Given the description of an element on the screen output the (x, y) to click on. 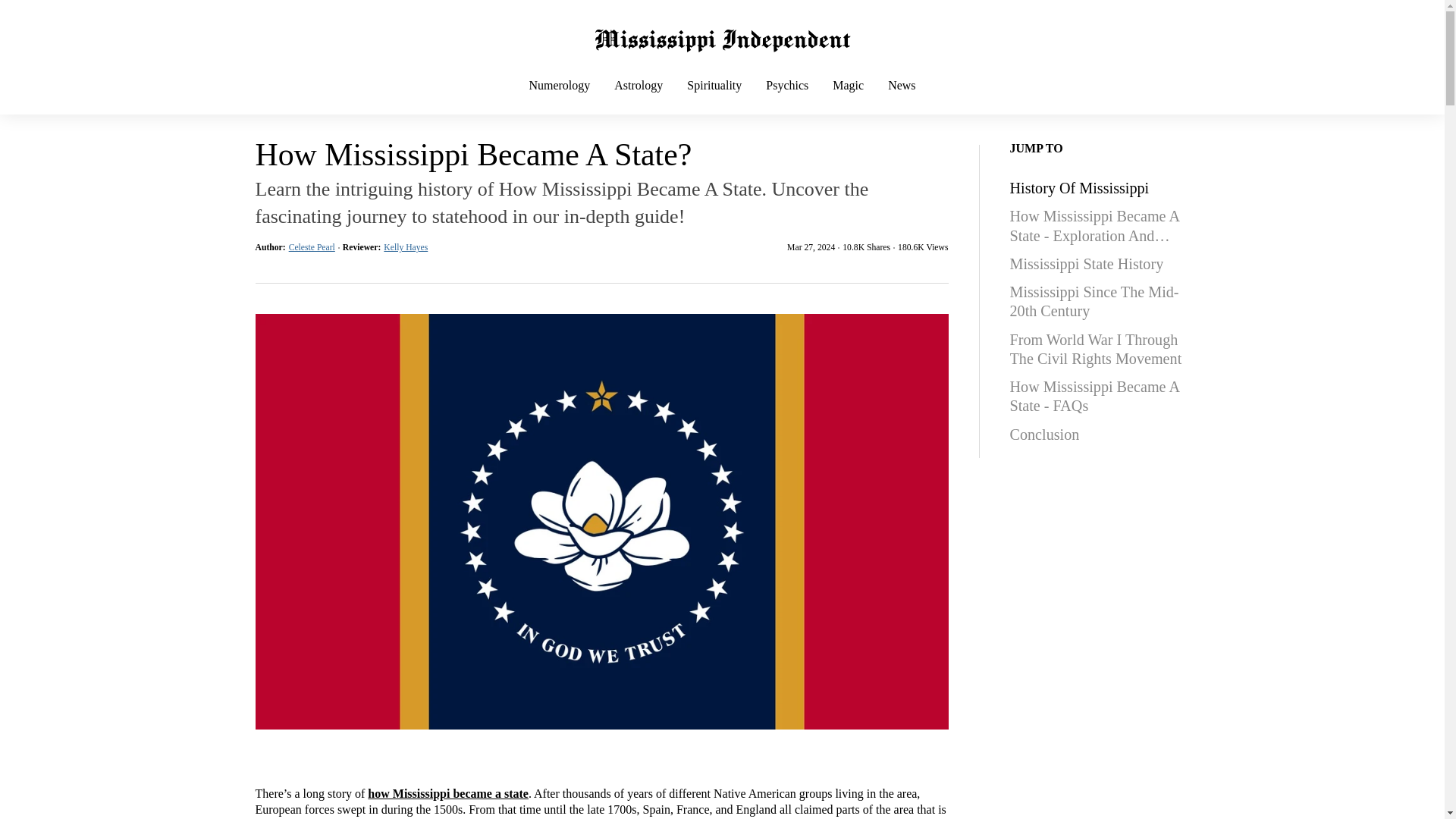
Astrology (638, 97)
Numerology (559, 97)
Psychics (787, 97)
Magic (848, 97)
Spirituality (714, 97)
